Given the description of an element on the screen output the (x, y) to click on. 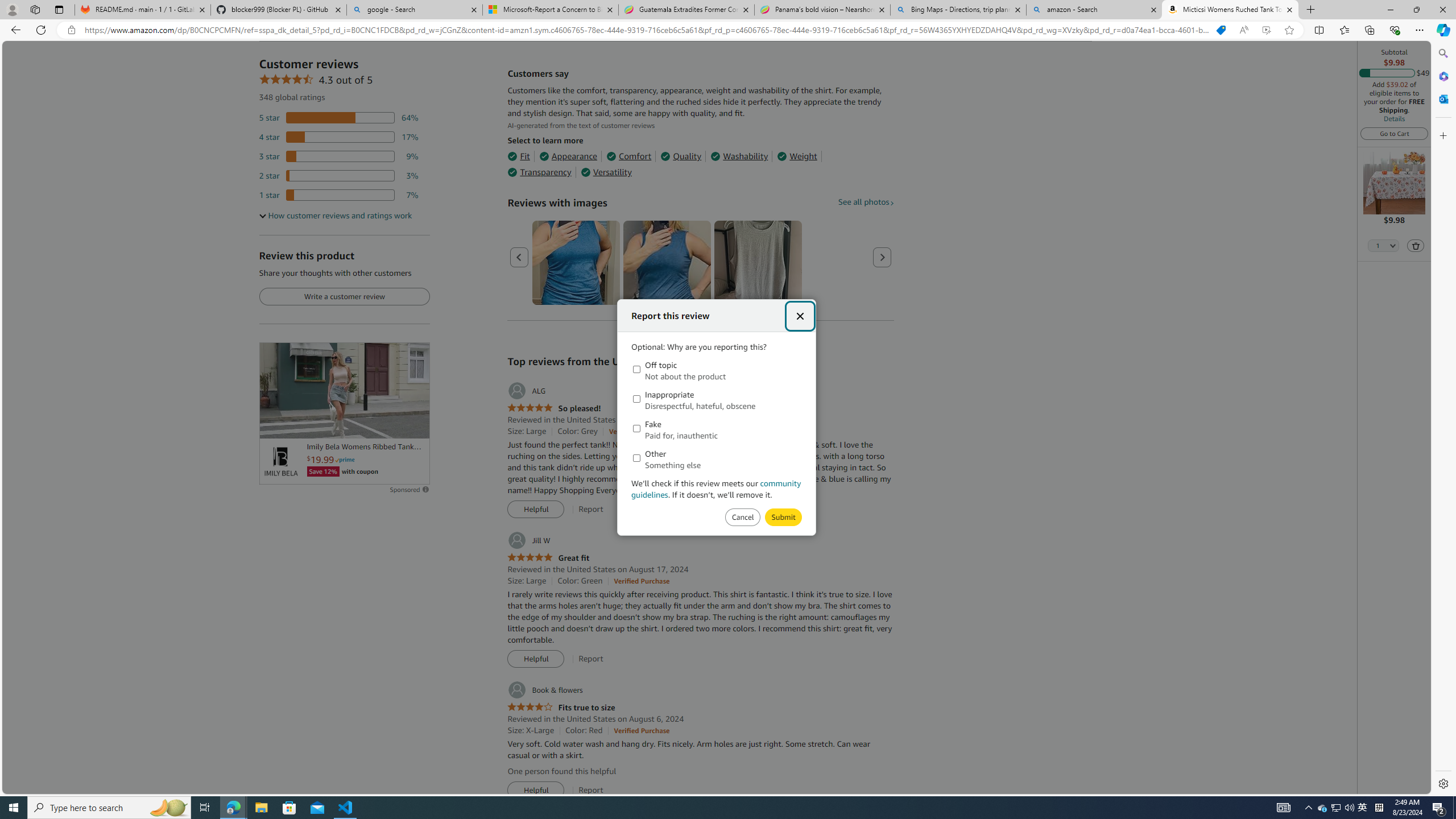
Sponsored ad (344, 390)
google - Search (414, 9)
Transparency (539, 172)
Customer Image (758, 262)
3 percent of reviews have 2 stars (339, 175)
17 percent of reviews have 4 stars (339, 137)
Customer Image (758, 262)
Mark this review for abuse BUTTON (782, 517)
